Given the description of an element on the screen output the (x, y) to click on. 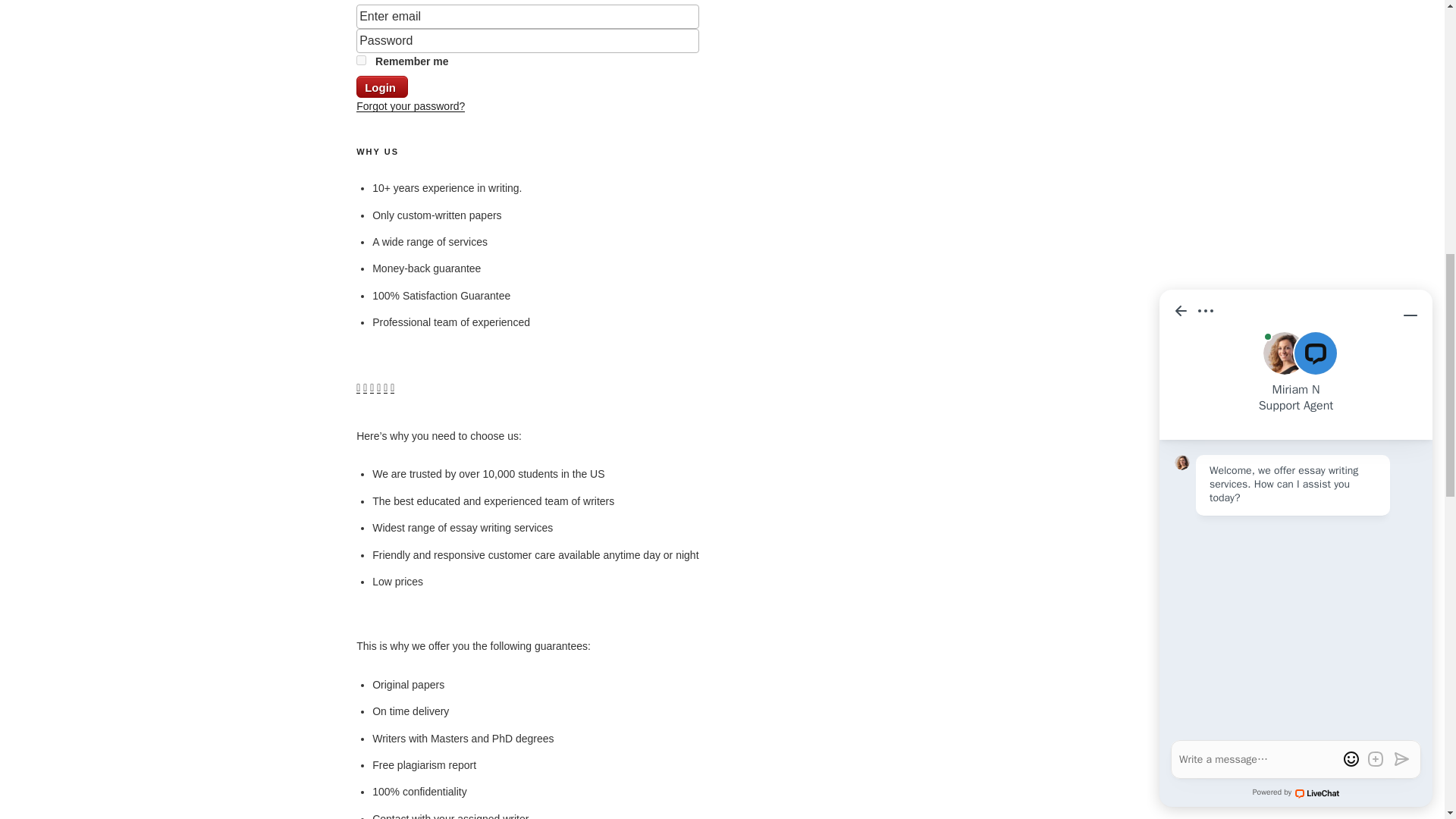
Recover password (410, 105)
Forgot your password? (410, 105)
click to Login (381, 86)
Login (381, 86)
on (361, 60)
